Given the description of an element on the screen output the (x, y) to click on. 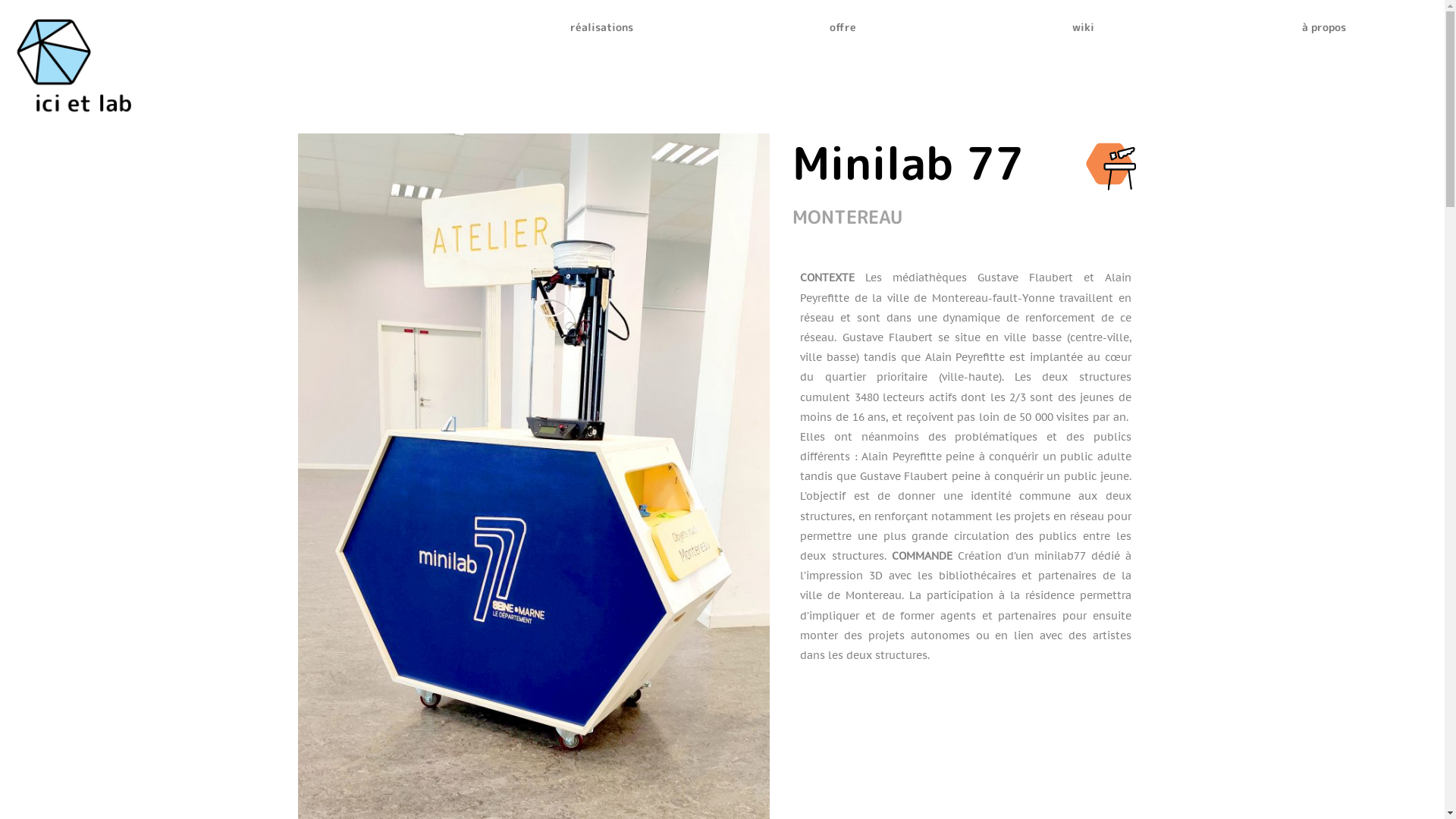
offre Element type: text (842, 26)
wiki Element type: text (1083, 26)
